Given the description of an element on the screen output the (x, y) to click on. 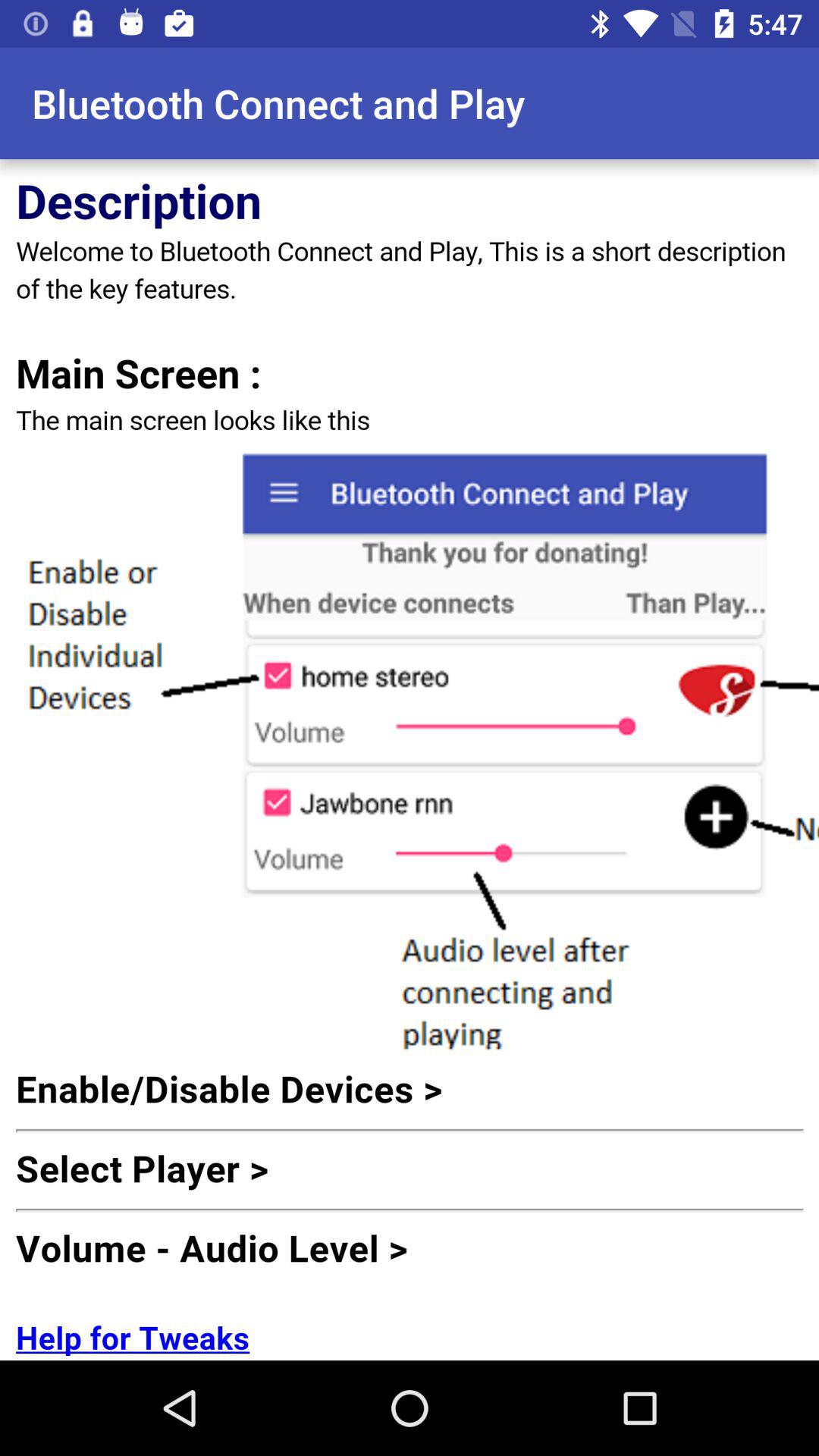
description of key features (409, 759)
